Given the description of an element on the screen output the (x, y) to click on. 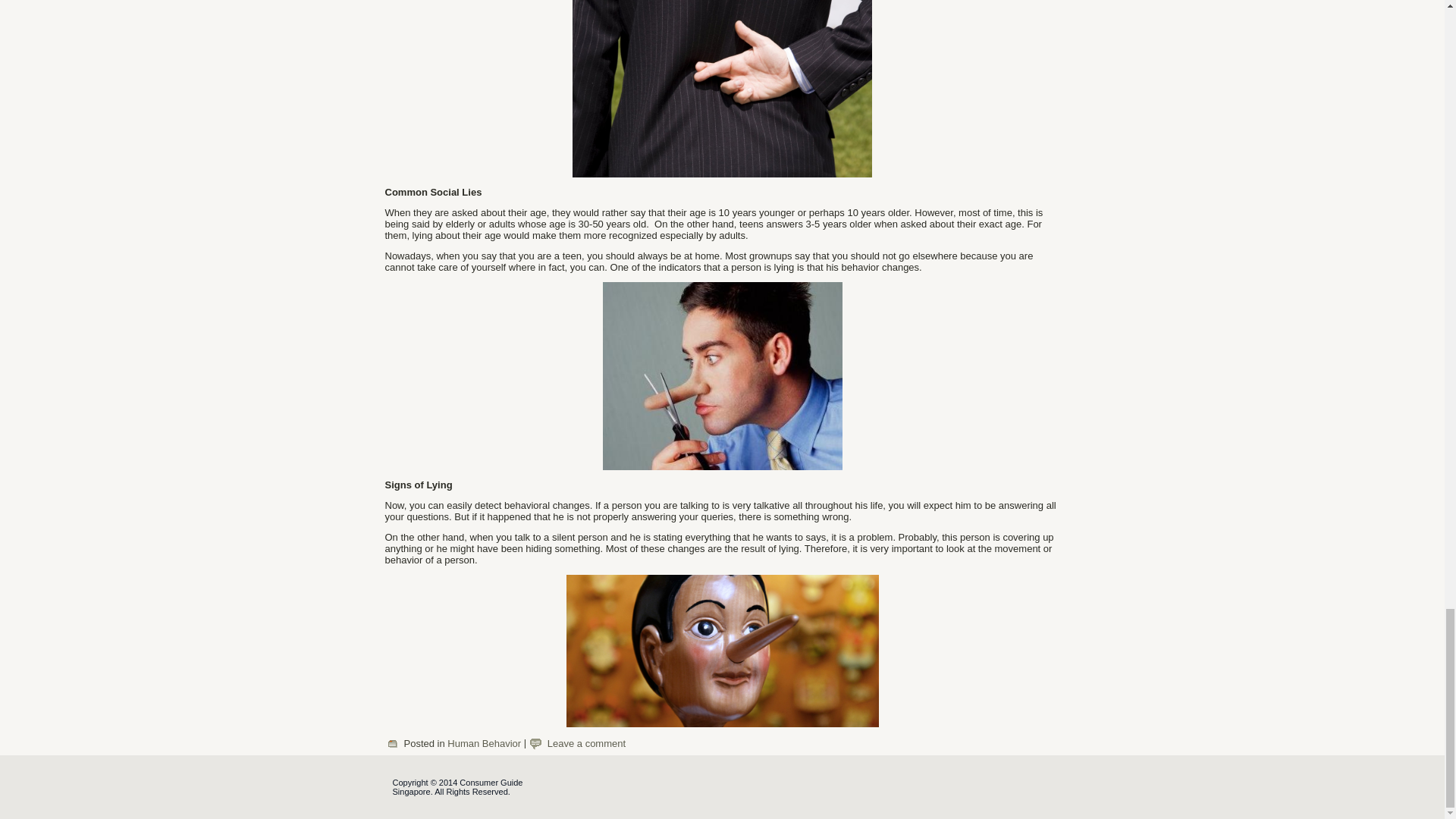
Human Behavior (483, 743)
Leave a comment (586, 743)
